Given the description of an element on the screen output the (x, y) to click on. 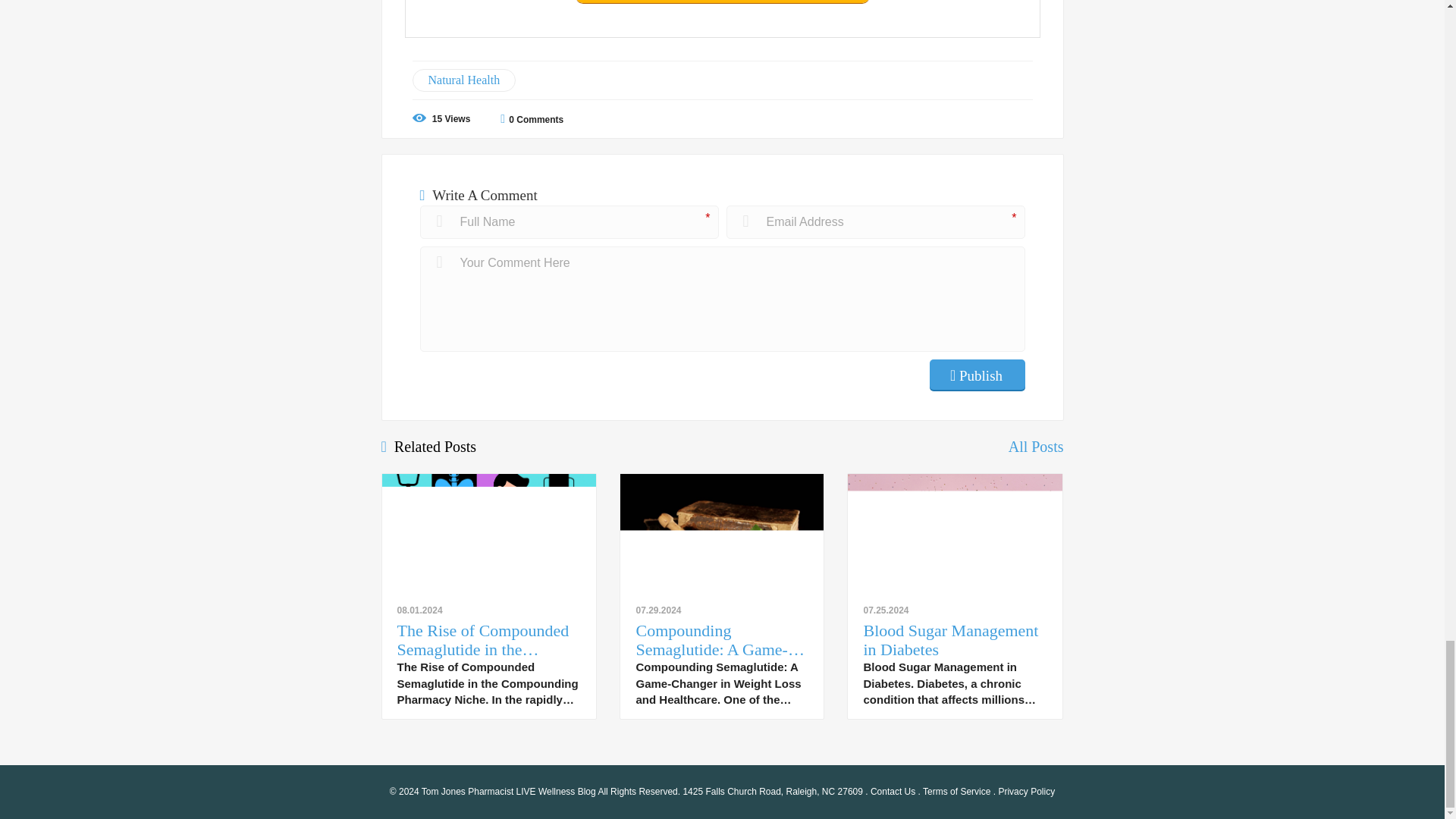
Compounding Semaglutide: A Game-Changer  (722, 639)
Terms of Service (956, 791)
Natural Health (464, 79)
All Posts (1036, 446)
Blood Sugar Management in Diabetes (954, 639)
Contact Us (892, 791)
Privacy Policy (1025, 791)
Publish (977, 374)
